Given the description of an element on the screen output the (x, y) to click on. 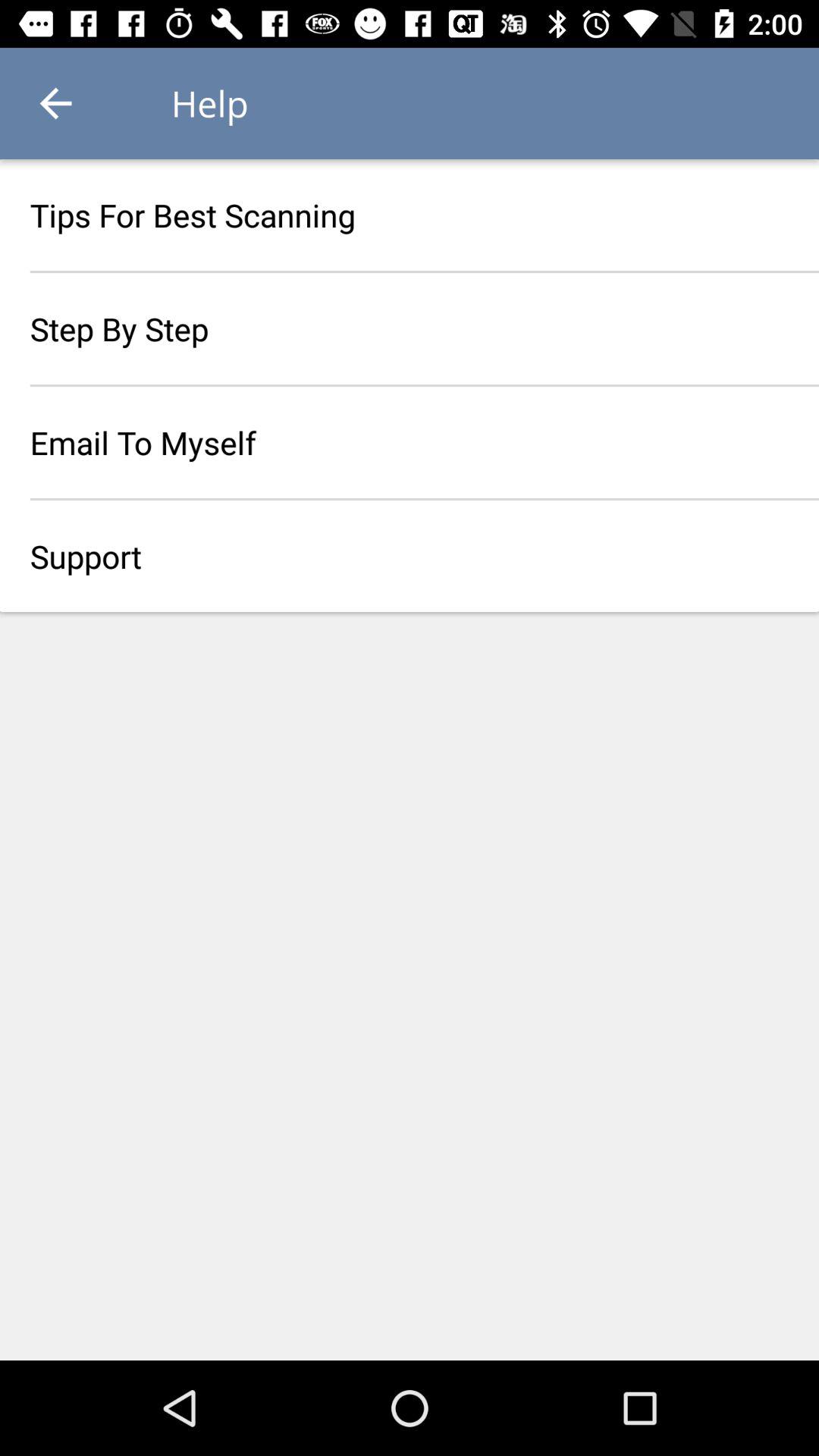
scroll to the email to myself item (409, 442)
